Given the description of an element on the screen output the (x, y) to click on. 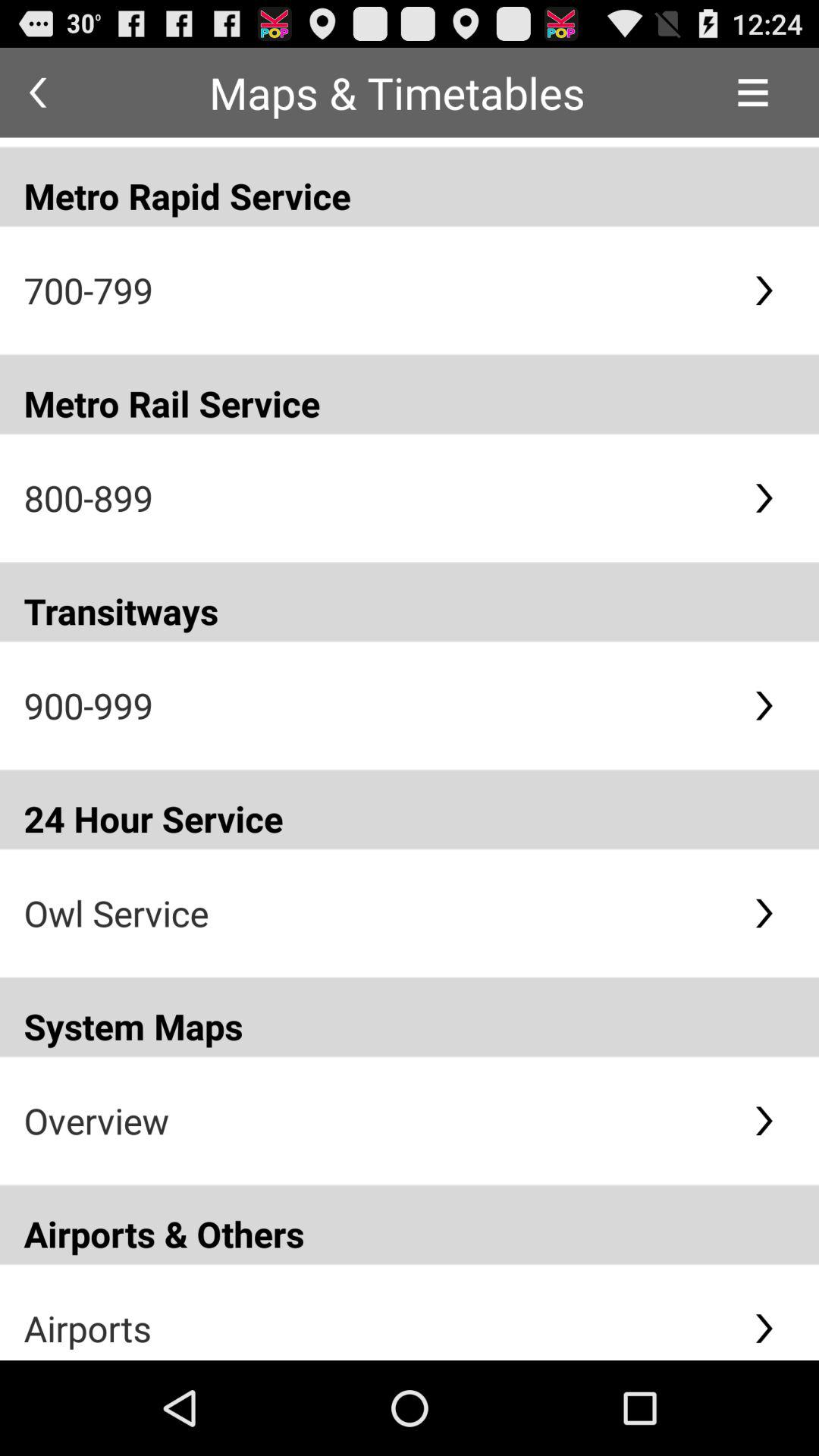
select item below the 24 hour service item (376, 913)
